Given the description of an element on the screen output the (x, y) to click on. 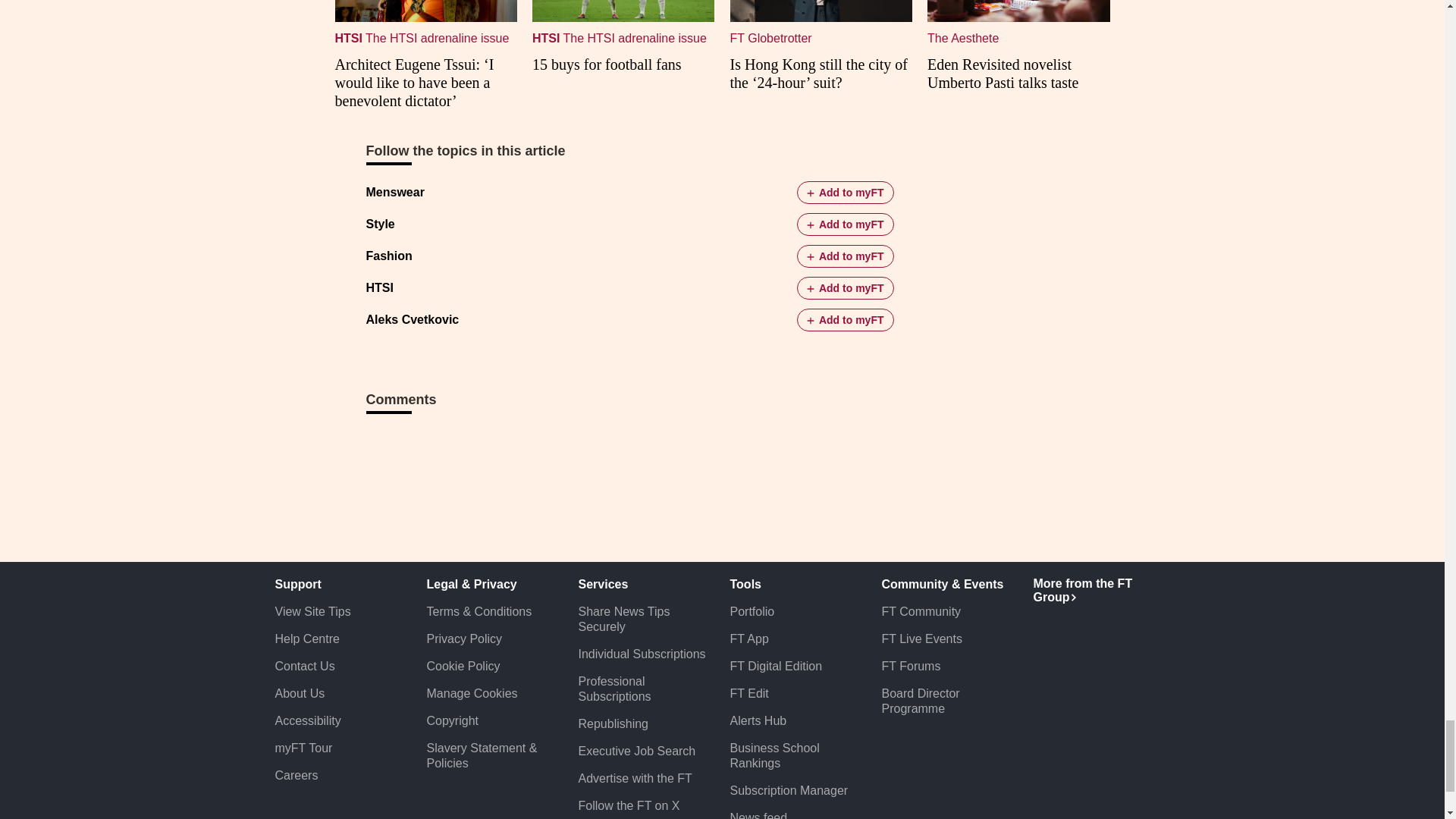
Add Fashion to myFT (844, 255)
Add Style to myFT (844, 223)
Add Menswear to myFT (844, 191)
Add HTSI to myFT (844, 287)
